Given the description of an element on the screen output the (x, y) to click on. 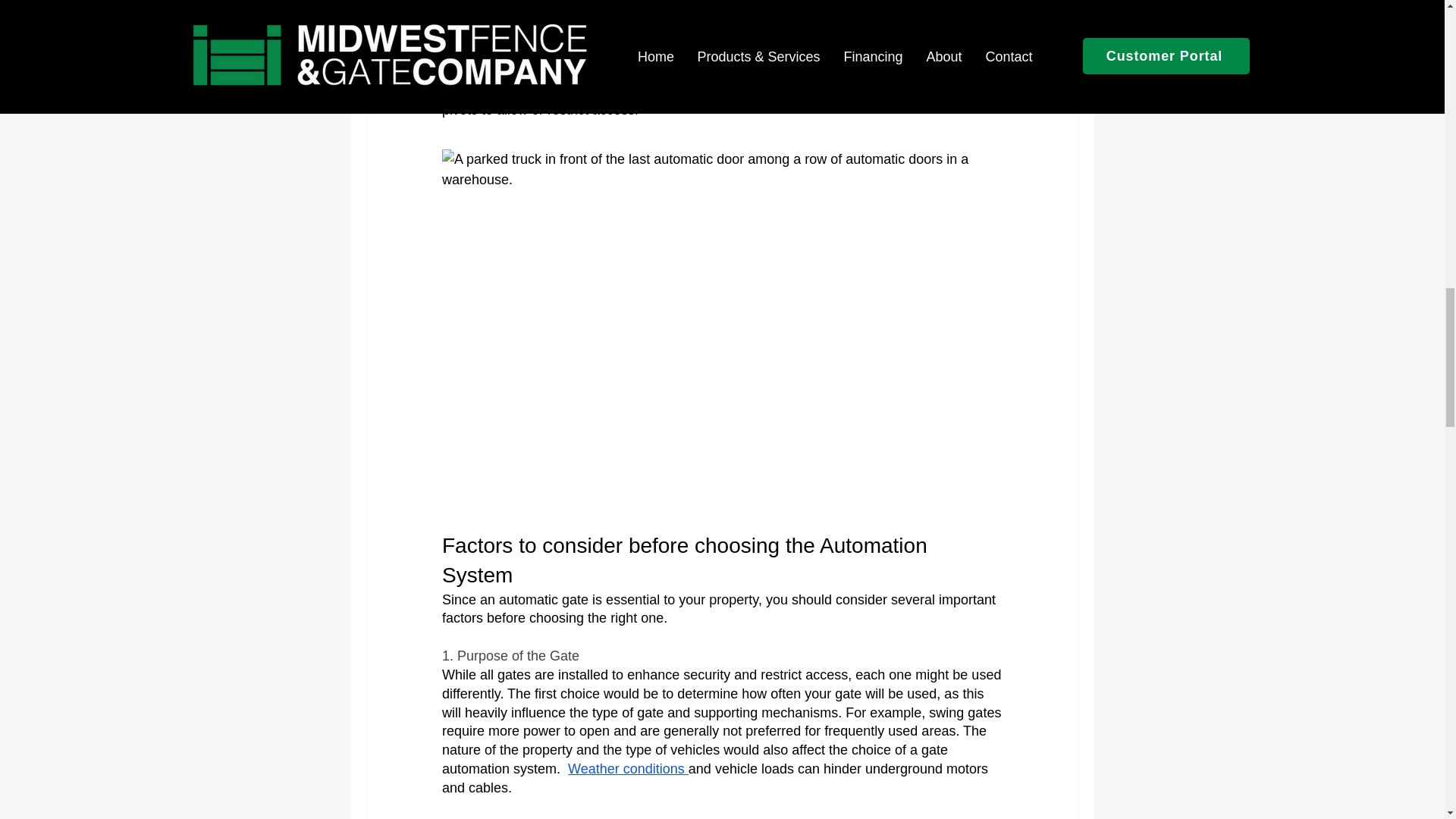
Weather conditions  (627, 768)
